Given the description of an element on the screen output the (x, y) to click on. 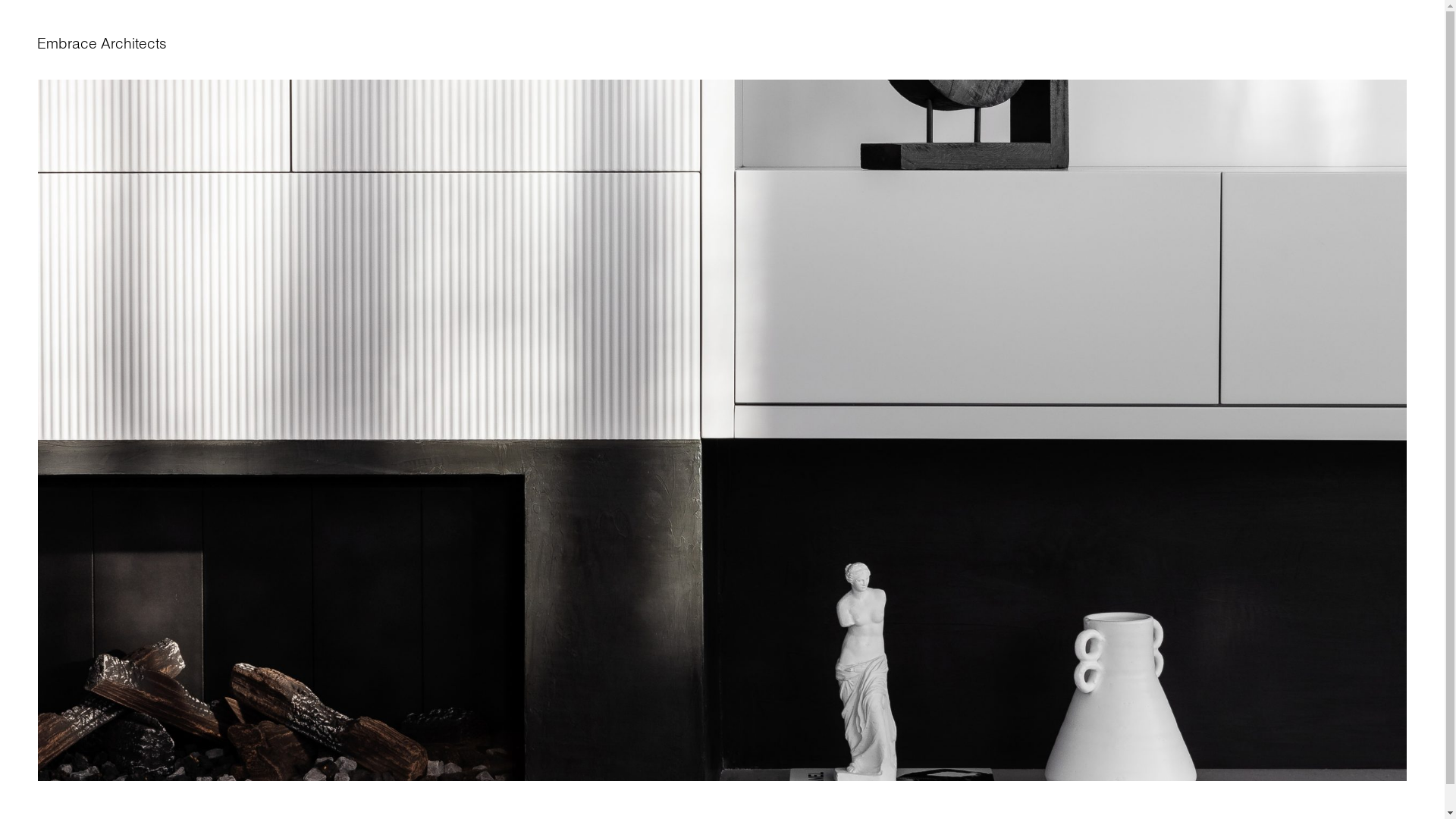
Embrace Architects Element type: text (101, 43)
